Given the description of an element on the screen output the (x, y) to click on. 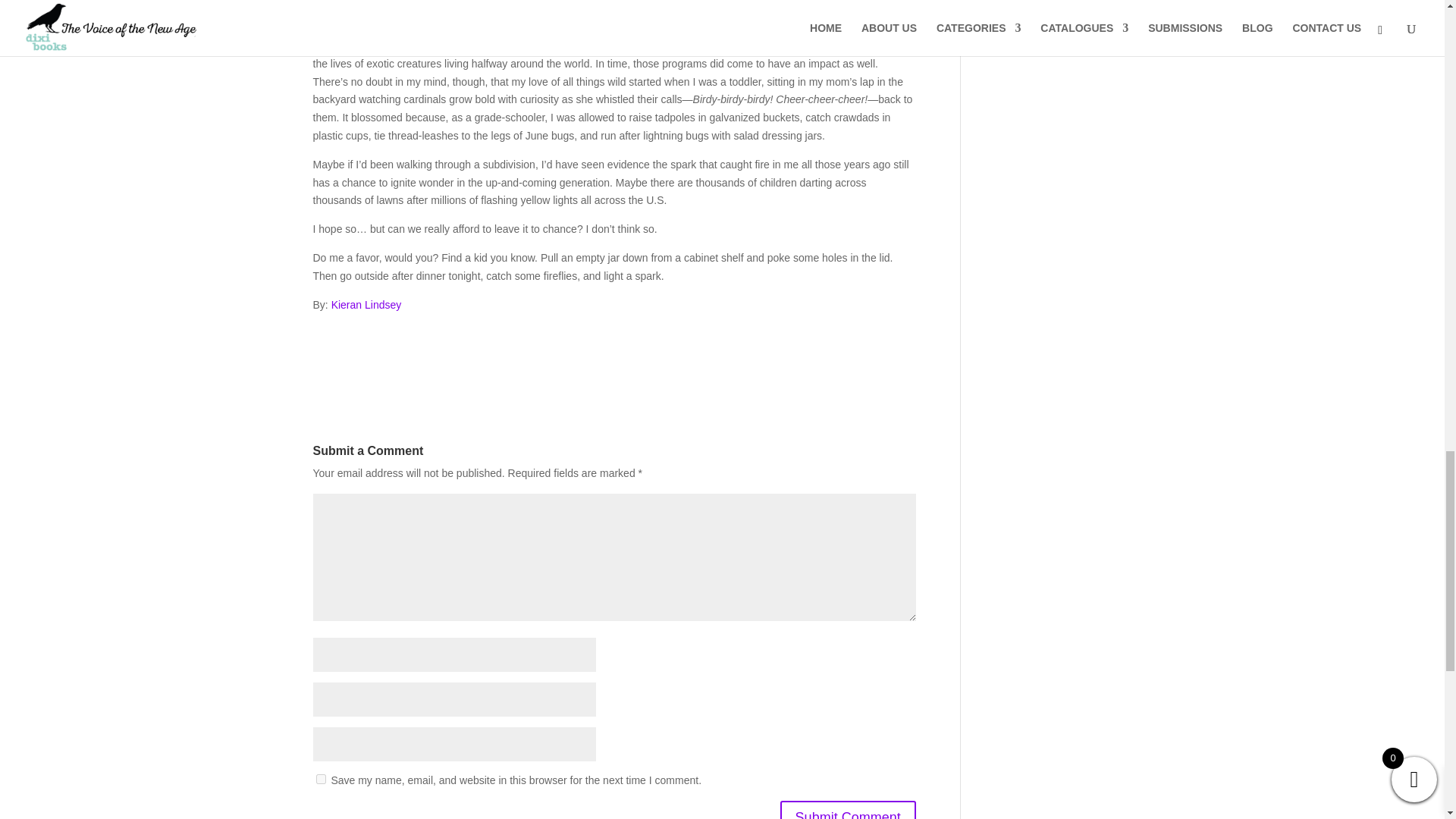
Kieran Lindsey (366, 304)
Submit Comment (847, 809)
Submit Comment (847, 809)
yes (319, 778)
